Given the description of an element on the screen output the (x, y) to click on. 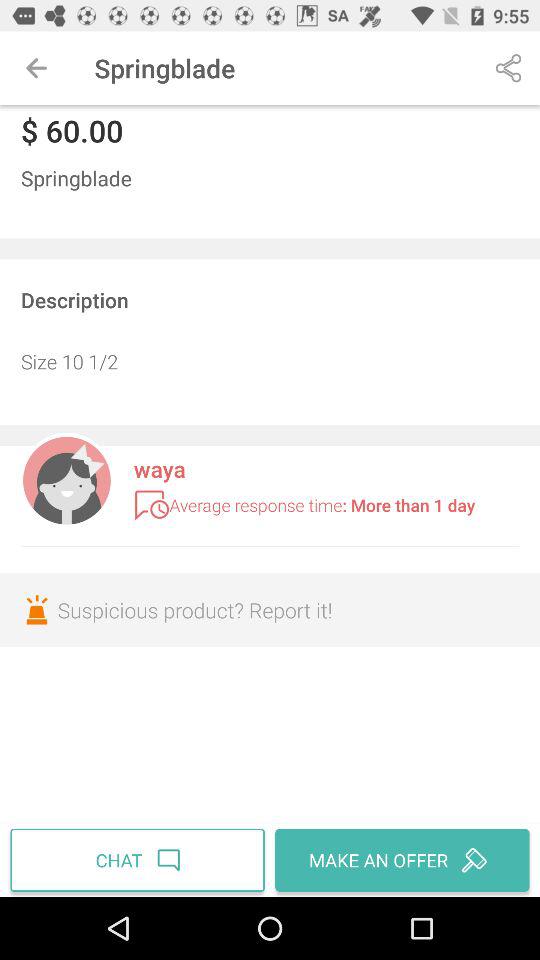
turn off the suspicious product report (270, 609)
